Given the description of an element on the screen output the (x, y) to click on. 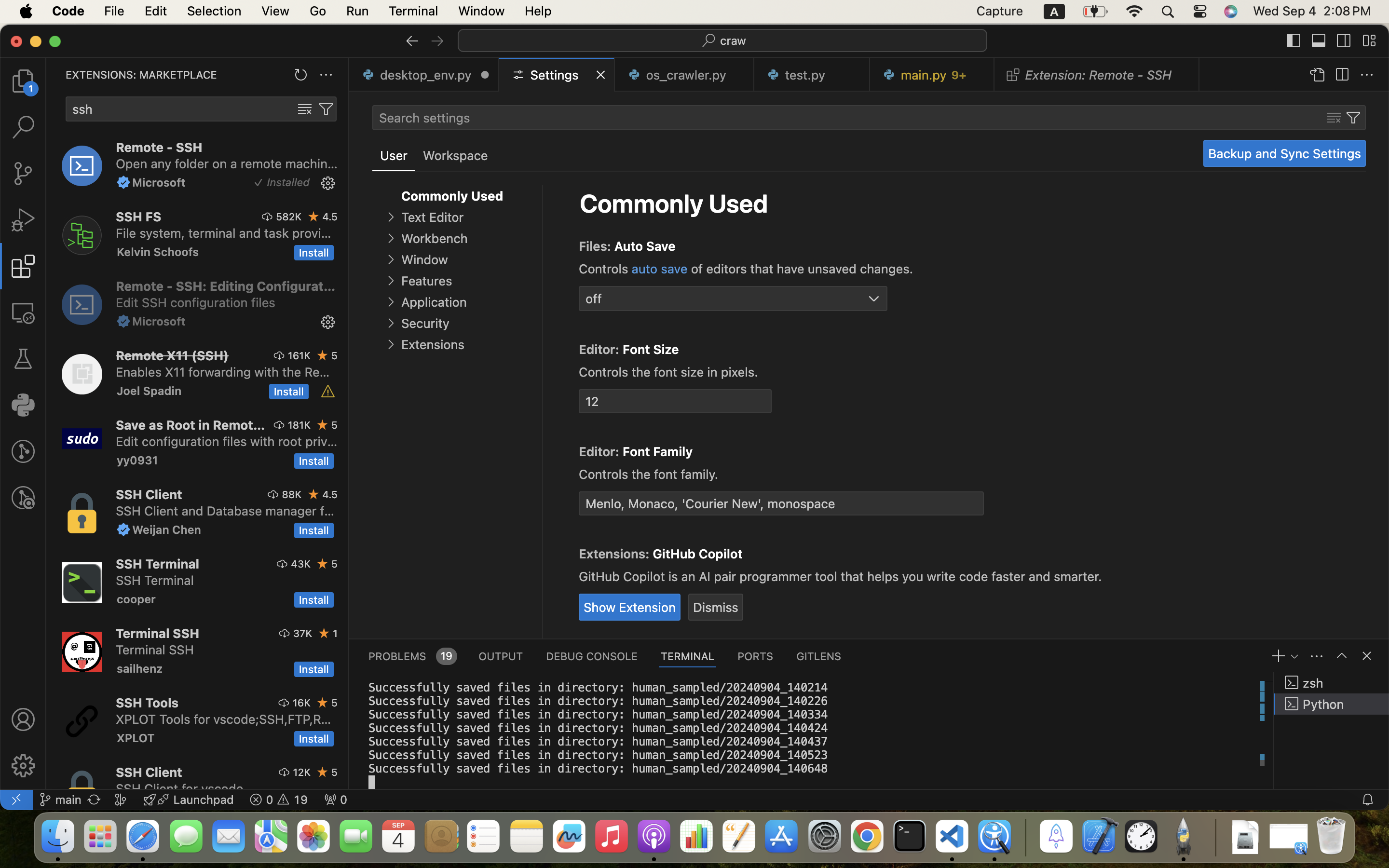
Microsoft Element type: AXStaticText (159, 182)
 Element type: AXStaticText (22, 765)
Edit SSH configuration files Element type: AXStaticText (195, 302)
Launchpad   Element type: AXButton (188, 799)
Workbench Element type: AXStaticText (434, 238)
